Given the description of an element on the screen output the (x, y) to click on. 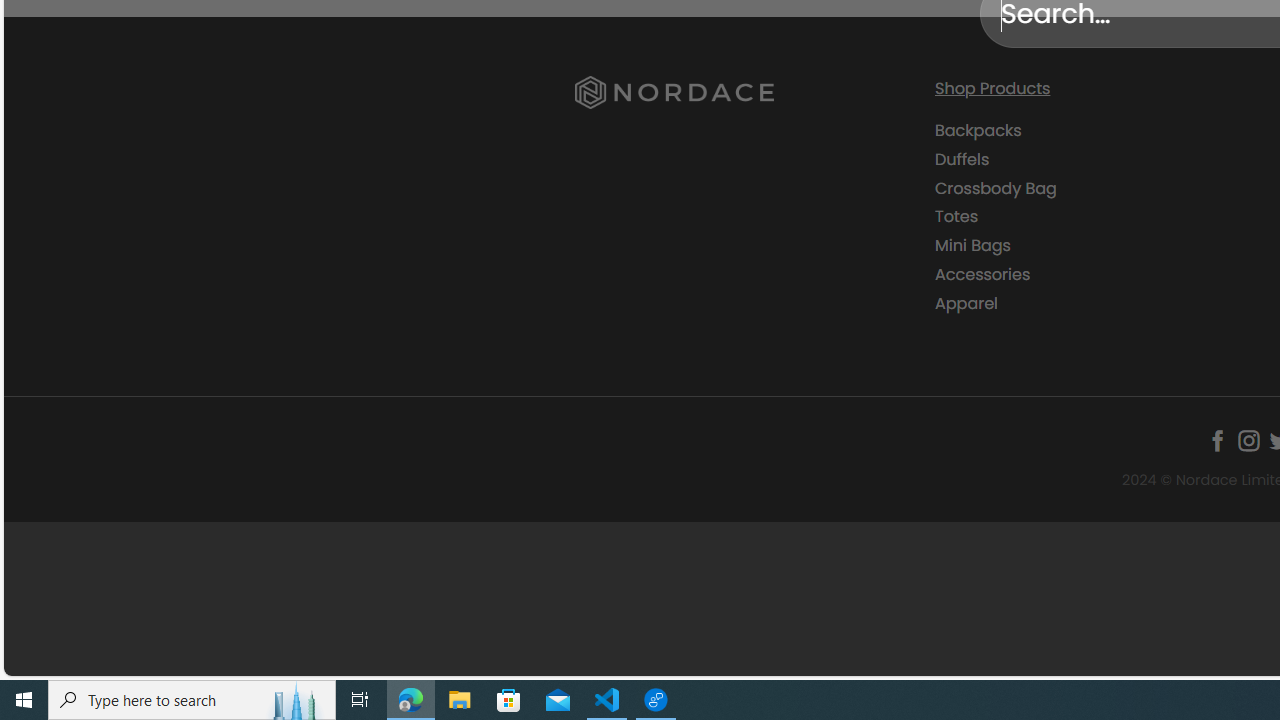
Duffels (1099, 159)
